Given the description of an element on the screen output the (x, y) to click on. 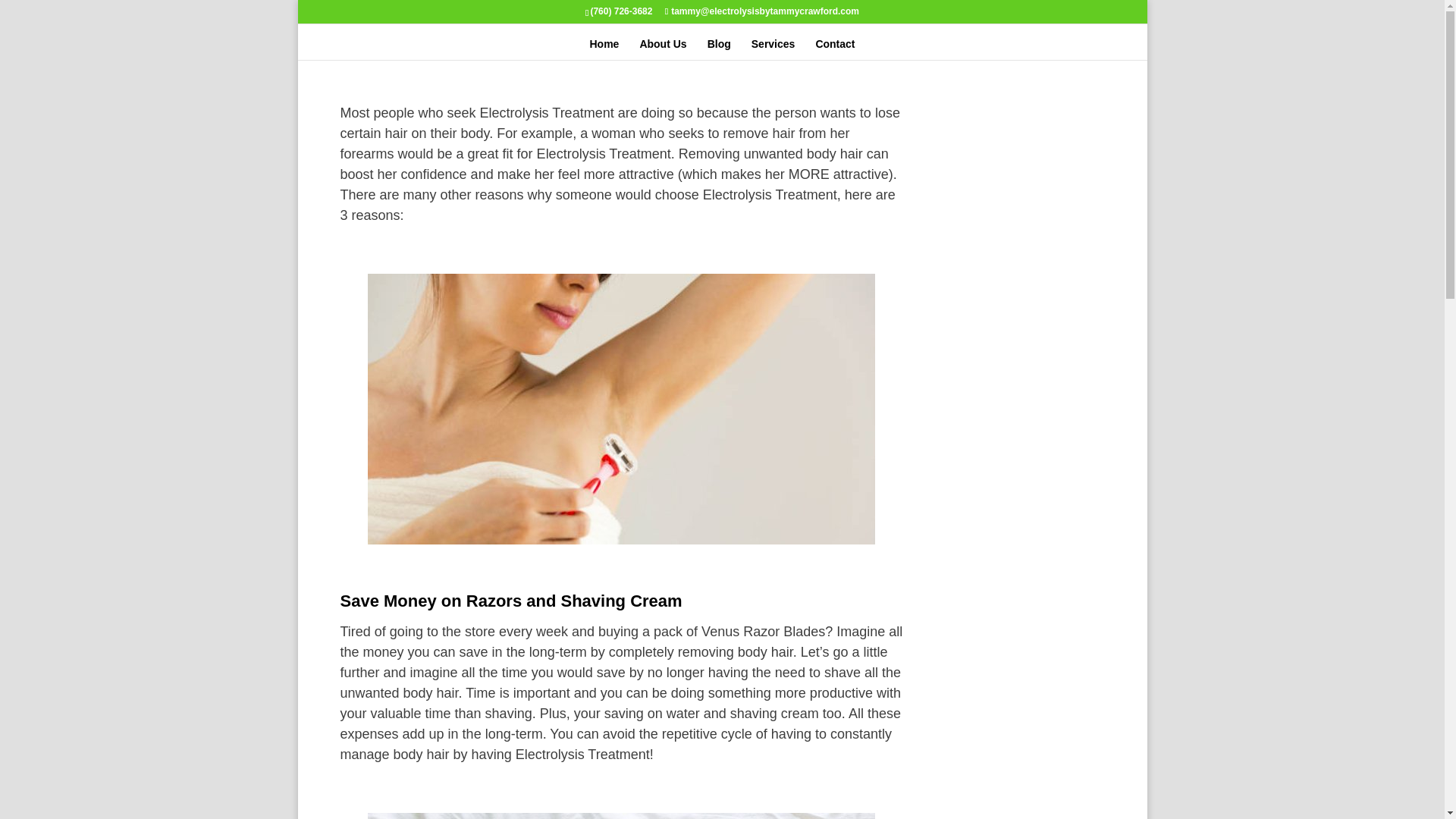
Blog (718, 47)
Home (603, 47)
About Us (662, 47)
Contact (834, 47)
Services (772, 47)
